Given the description of an element on the screen output the (x, y) to click on. 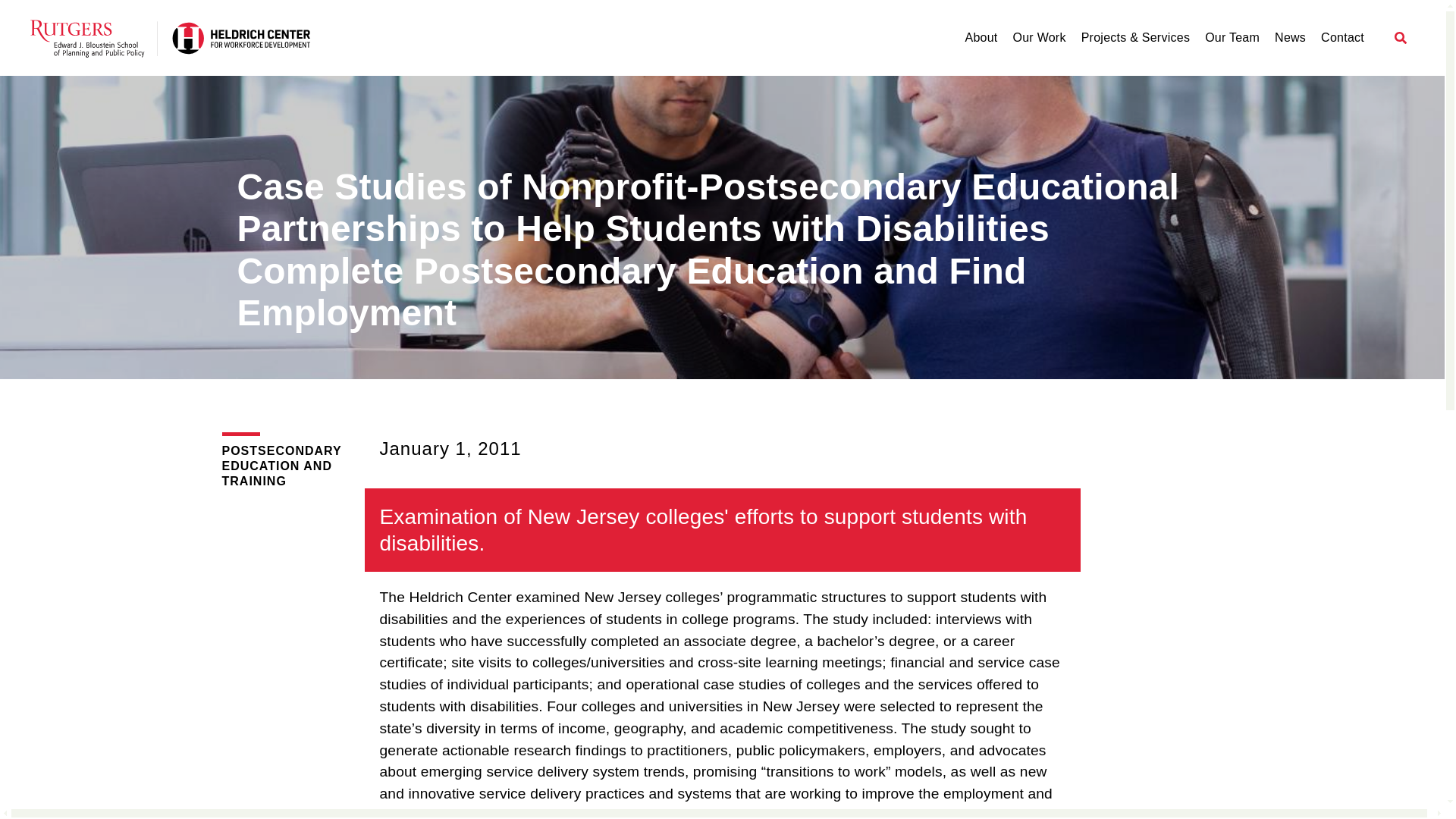
News (1290, 37)
Contact (1342, 37)
